Given the description of an element on the screen output the (x, y) to click on. 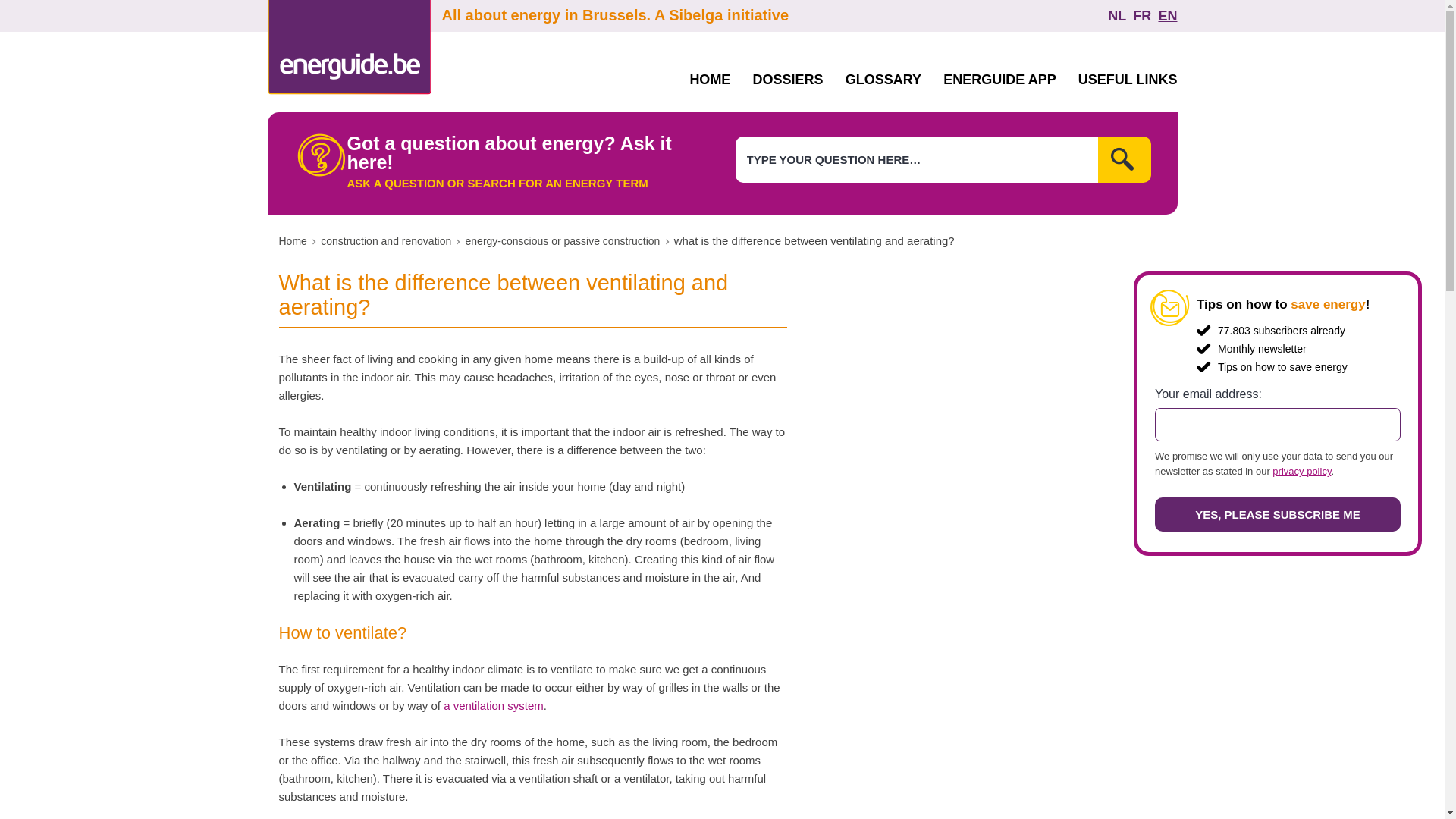
privacy policy (1301, 471)
Energy-conscious or passive construction (563, 241)
All about energy in Brussels. A Sibelga initiative (721, 17)
USEFUL LINKS (1127, 79)
YES, PLEASE SUBSCRIBE ME (1277, 514)
ENERGUIDE APP (999, 79)
Construction and renovation (385, 241)
DOSSIERS (788, 79)
energy-conscious or passive construction (563, 241)
Home (293, 241)
